Given the description of an element on the screen output the (x, y) to click on. 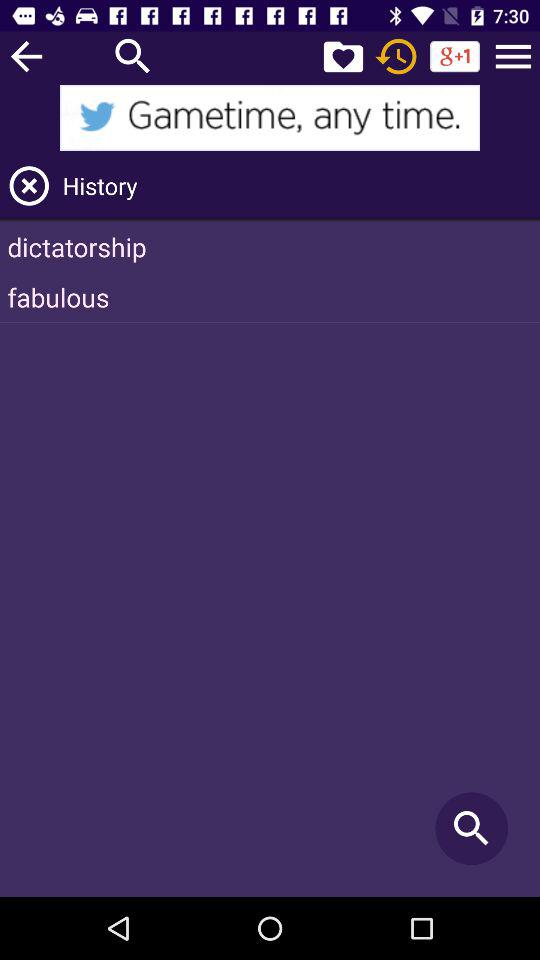
choose dictatorship (270, 246)
